Given the description of an element on the screen output the (x, y) to click on. 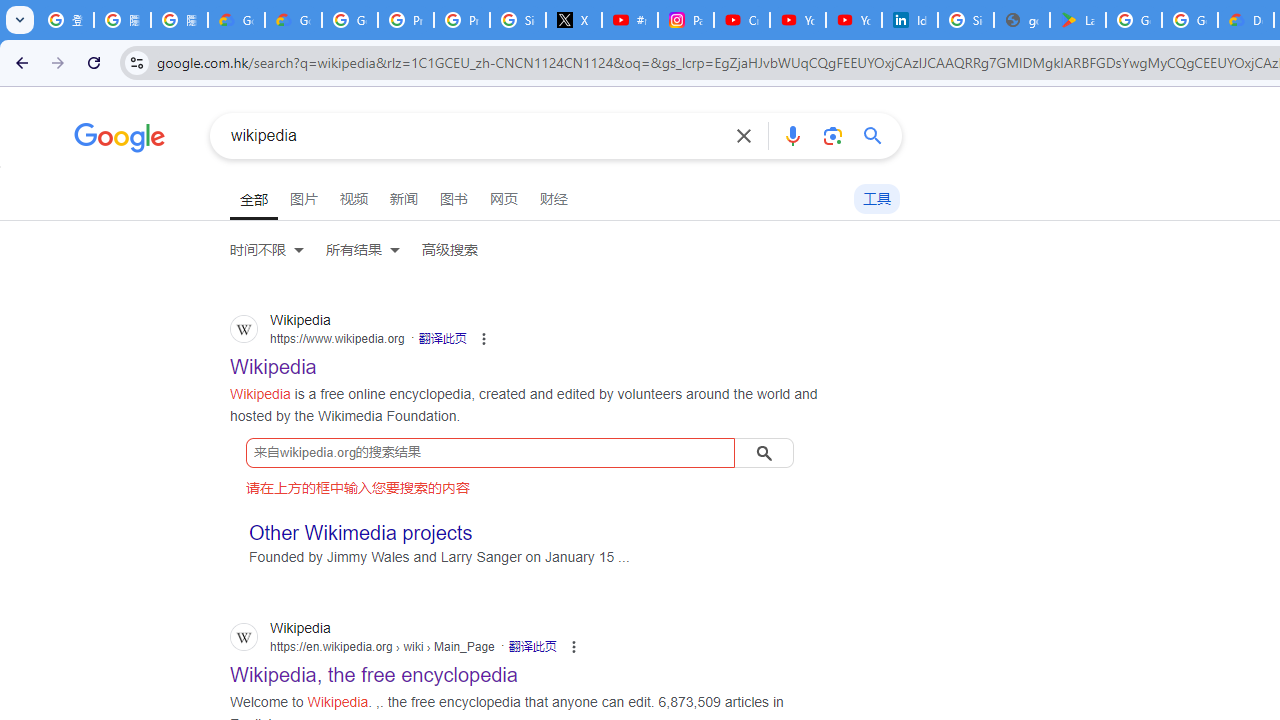
Other Wikimedia projects (361, 532)
Google Cloud Privacy Notice (235, 20)
#nbabasketballhighlights - YouTube (629, 20)
